Given the description of an element on the screen output the (x, y) to click on. 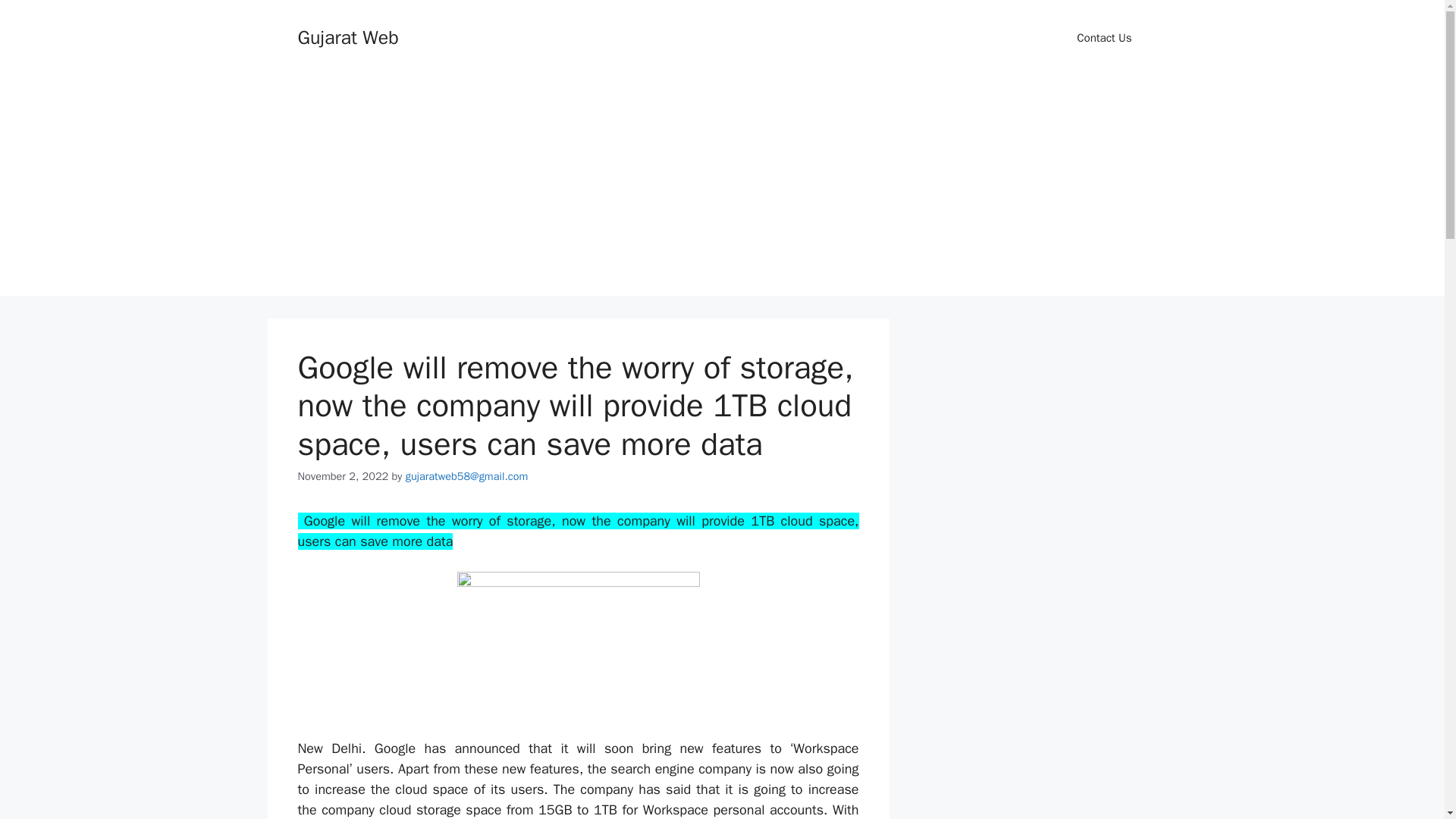
Gujarat Web (347, 37)
Contact Us (1104, 37)
